Given the description of an element on the screen output the (x, y) to click on. 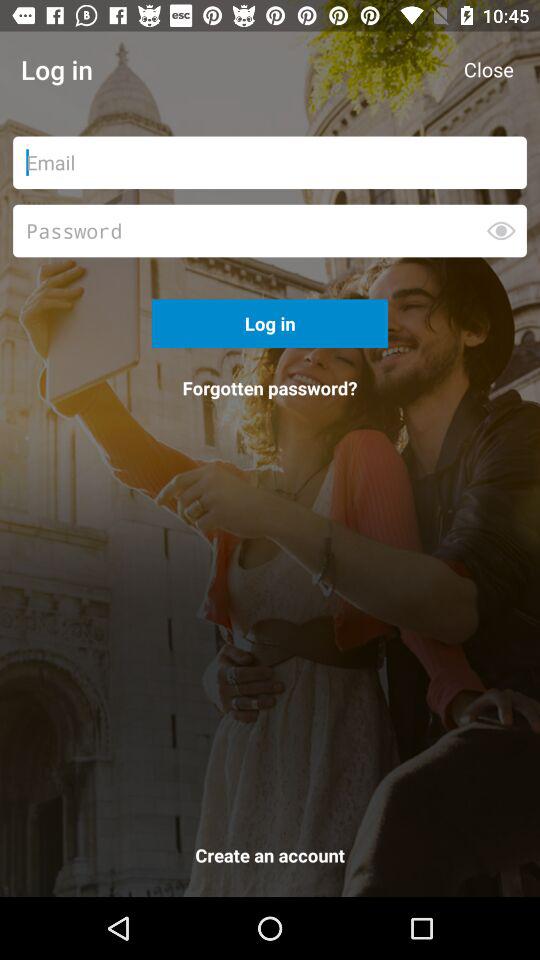
turn off app next to log in item (488, 69)
